Given the description of an element on the screen output the (x, y) to click on. 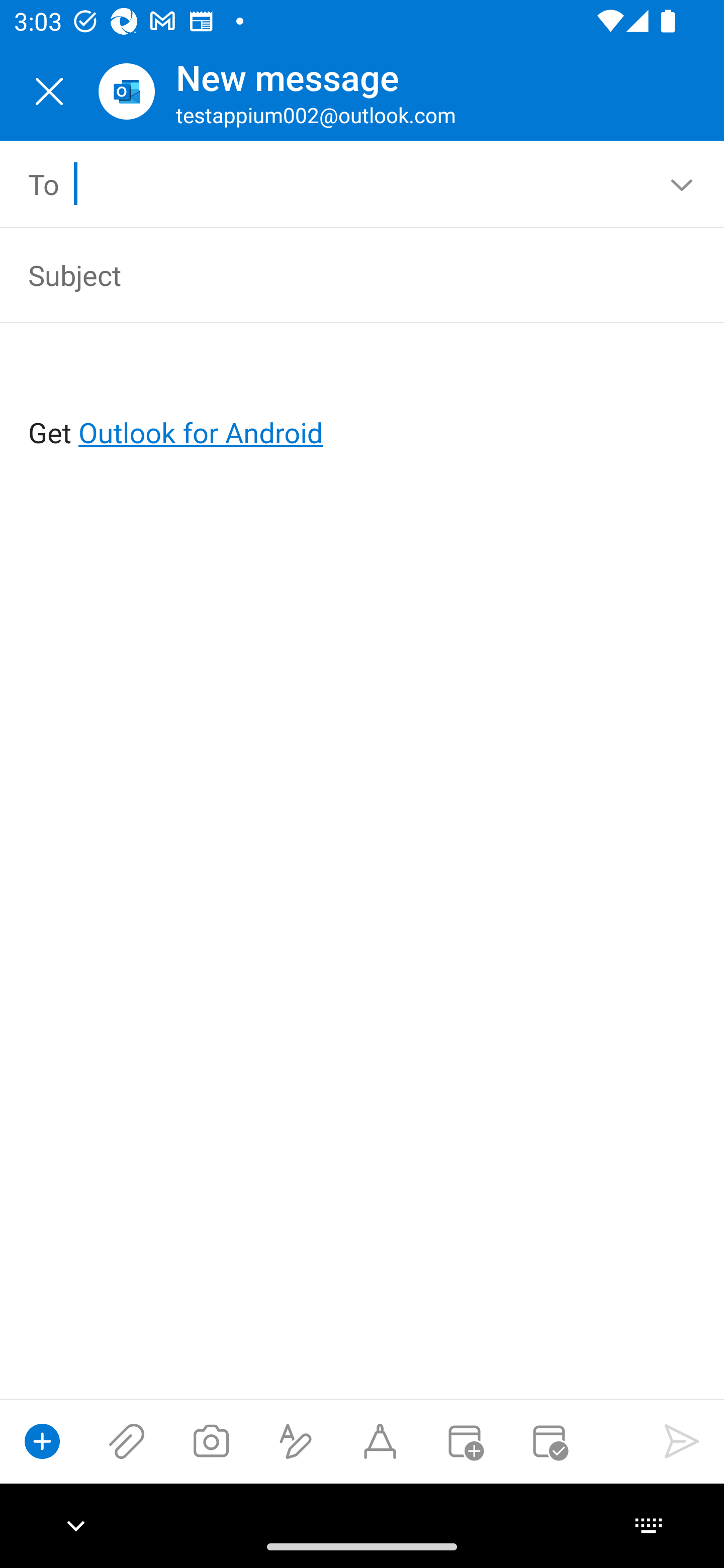
Close (49, 91)
Subject (333, 274)


Get Outlook for Android (363, 400)
Show compose options (42, 1440)
Attach files (126, 1440)
Take a photo (210, 1440)
Show formatting options (295, 1440)
Start Ink compose (380, 1440)
Convert to event (464, 1440)
Send availability (548, 1440)
Send (681, 1440)
